Given the description of an element on the screen output the (x, y) to click on. 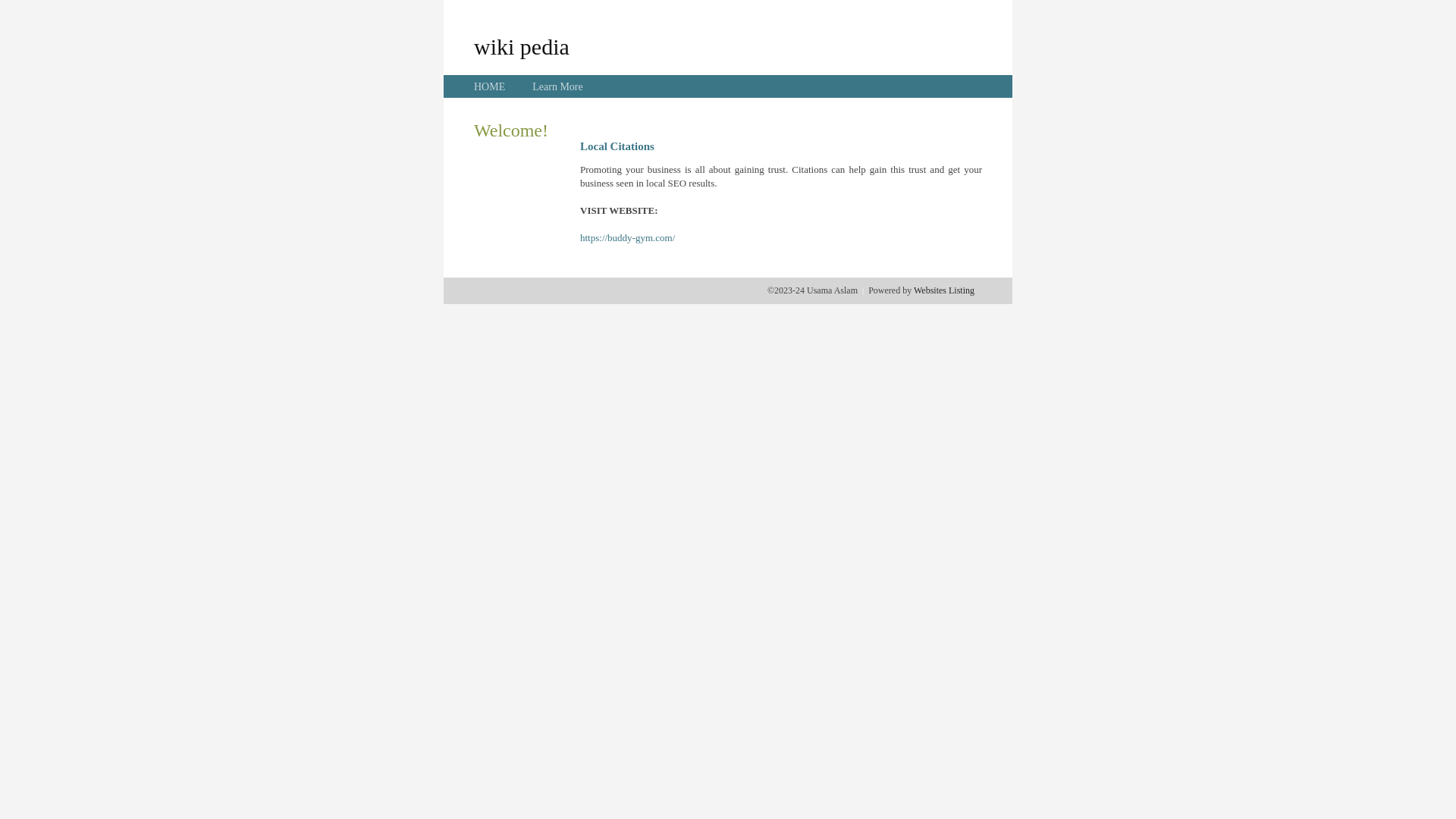
wiki pedia Element type: text (521, 46)
https://buddy-gym.com/ Element type: text (627, 237)
HOME Element type: text (489, 86)
Websites Listing Element type: text (943, 290)
Learn More Element type: text (557, 86)
